Given the description of an element on the screen output the (x, y) to click on. 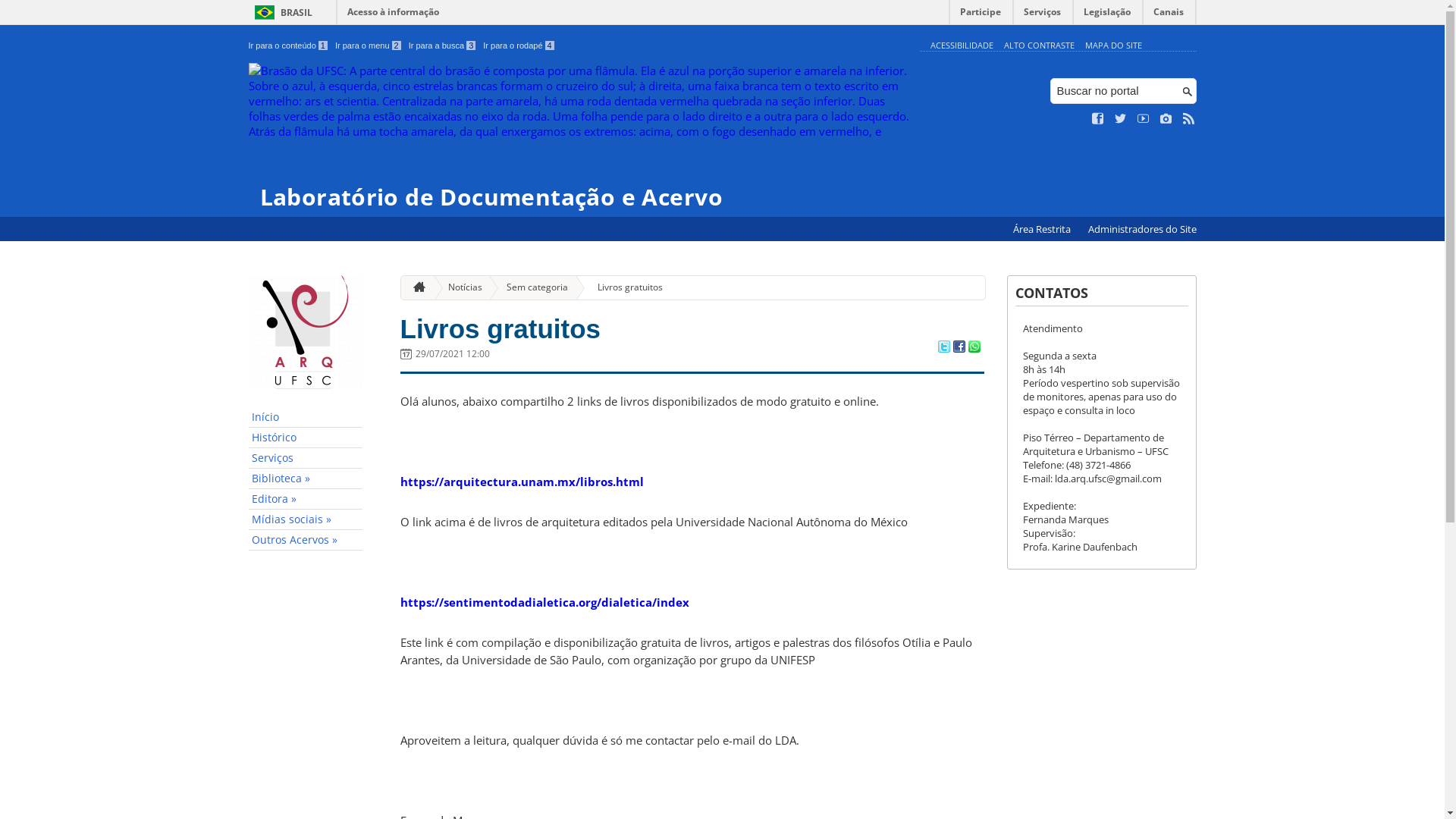
Ir para a busca 3 Element type: text (442, 45)
ALTO CONTRASTE Element type: text (1039, 44)
https://arquitectura.unam.mx/libros.html Element type: text (521, 481)
Livros gratuitos Element type: text (500, 328)
Participe Element type: text (980, 15)
Canais Element type: text (1169, 15)
Compartilhar no WhatsApp Element type: hover (973, 347)
BRASIL Element type: text (280, 12)
Compartilhar no Facebook Element type: hover (958, 347)
Administradores do Site Element type: text (1141, 228)
https://sentimentodadialetica.org/dialetica/index Element type: text (544, 601)
MAPA DO SITE Element type: text (1112, 44)
Curta no Facebook Element type: hover (1098, 118)
Sem categoria Element type: text (531, 287)
Siga no Twitter Element type: hover (1120, 118)
Compartilhar no Twitter Element type: hover (943, 347)
ACESSIBILIDADE Element type: text (960, 44)
Livros gratuitos Element type: text (623, 287)
Ir para o menu 2 Element type: text (368, 45)
Veja no Instagram Element type: hover (1166, 118)
